Given the description of an element on the screen output the (x, y) to click on. 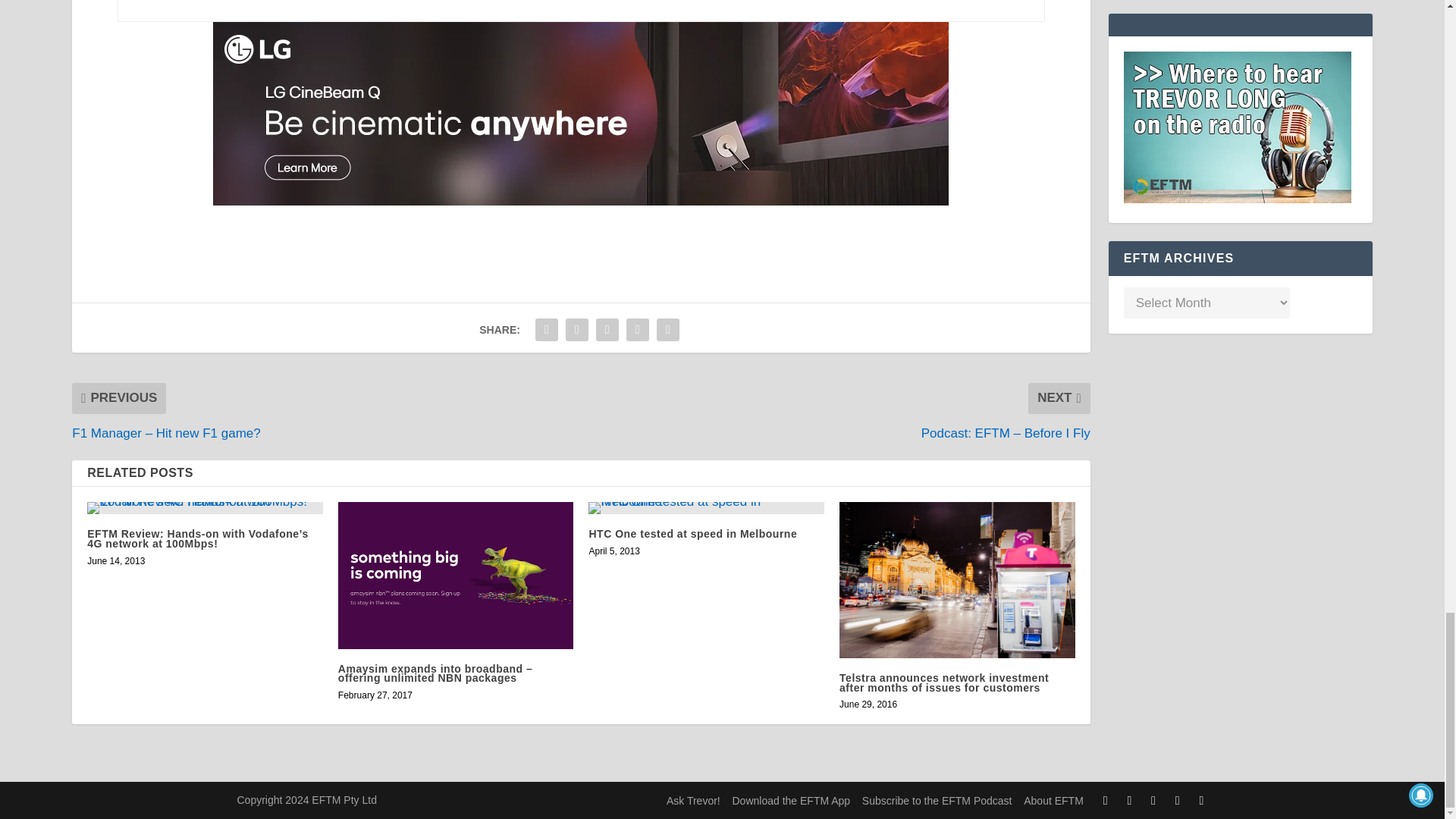
HTC One tested at speed in Melbourne (706, 508)
